Given the description of an element on the screen output the (x, y) to click on. 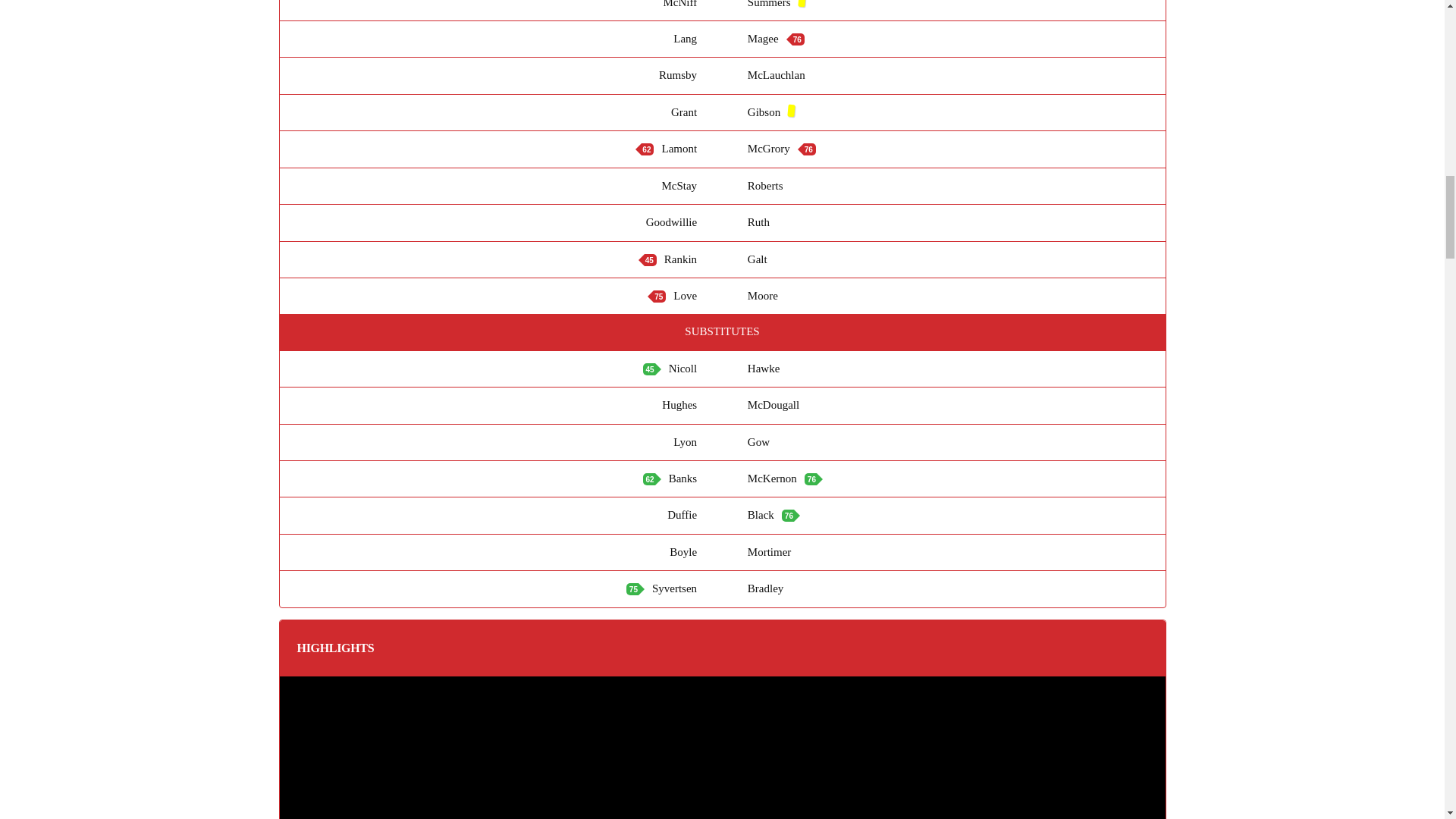
Off: McGrory; On: Black (809, 149)
Off: Love; On: Syvertsen (632, 589)
Yellow Card Issued (801, 2)
Off: Lamont; On: Banks (649, 479)
Off: McGrory; On: Black (787, 515)
Off: Magee; On: McKernon (798, 39)
Off: Lamont; On: Banks (647, 149)
Off: Rankin; On: Nicoll (649, 369)
Off: Love; On: Syvertsen (659, 296)
Off: Magee; On: McKernon (810, 479)
